Given the description of an element on the screen output the (x, y) to click on. 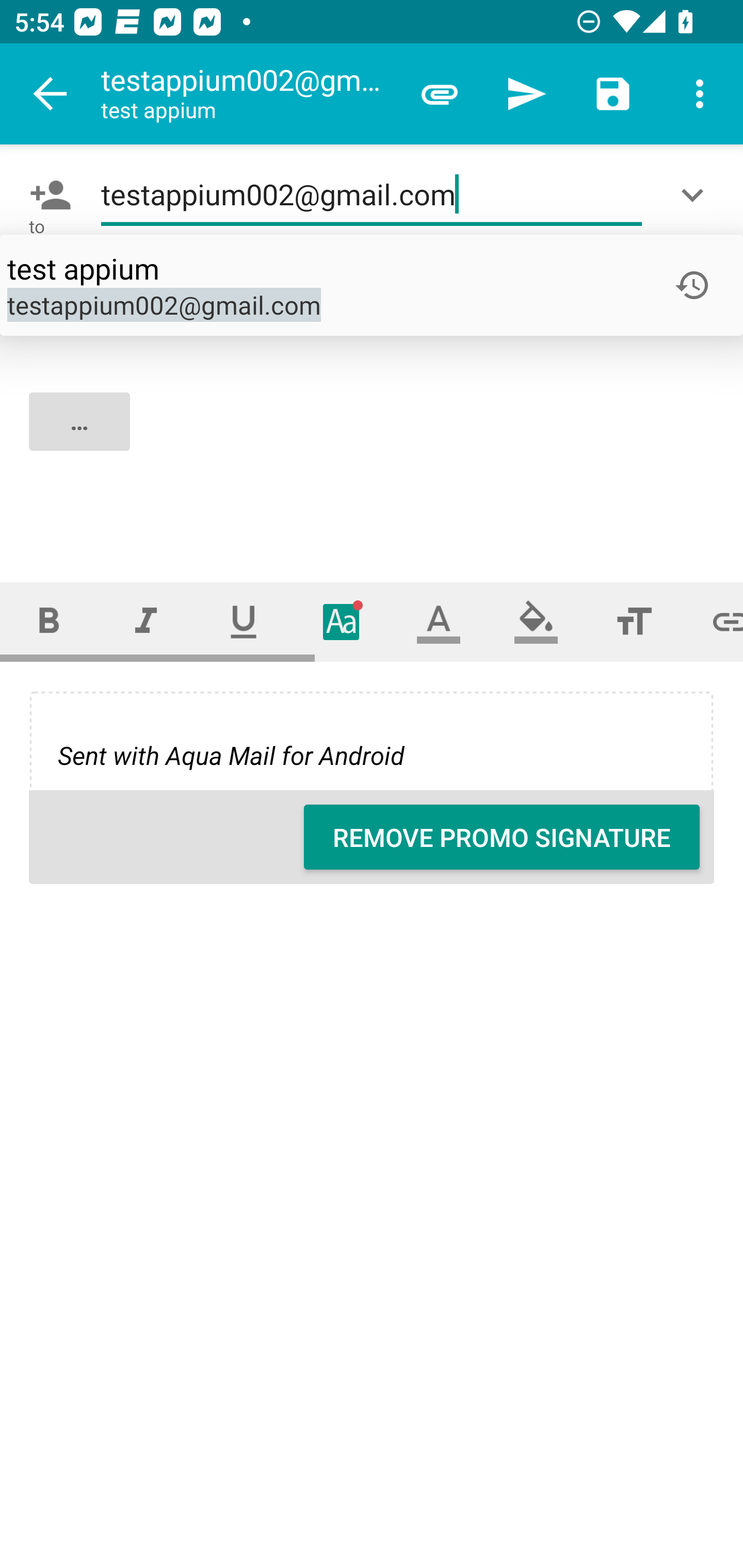
Navigate up (50, 93)
testappium002@gmail.com test appium (248, 93)
Attach (439, 93)
Send (525, 93)
Save (612, 93)
More options (699, 93)
Pick contact: To (46, 195)
Show/Add CC/BCC (696, 195)
testappium002@gmail.com (371, 195)
Fwd: "4080 super + 78003xd vs 4090 5900x" (371, 284)

…
 (372, 438)
Bold (48, 621)
Italic (145, 621)
Underline (243, 621)
Typeface (font) (341, 621)
Text color (438, 621)
Fill color (536, 621)
Font size (633, 621)
Set link (712, 621)
REMOVE PROMO SIGNATURE (501, 837)
